Given the description of an element on the screen output the (x, y) to click on. 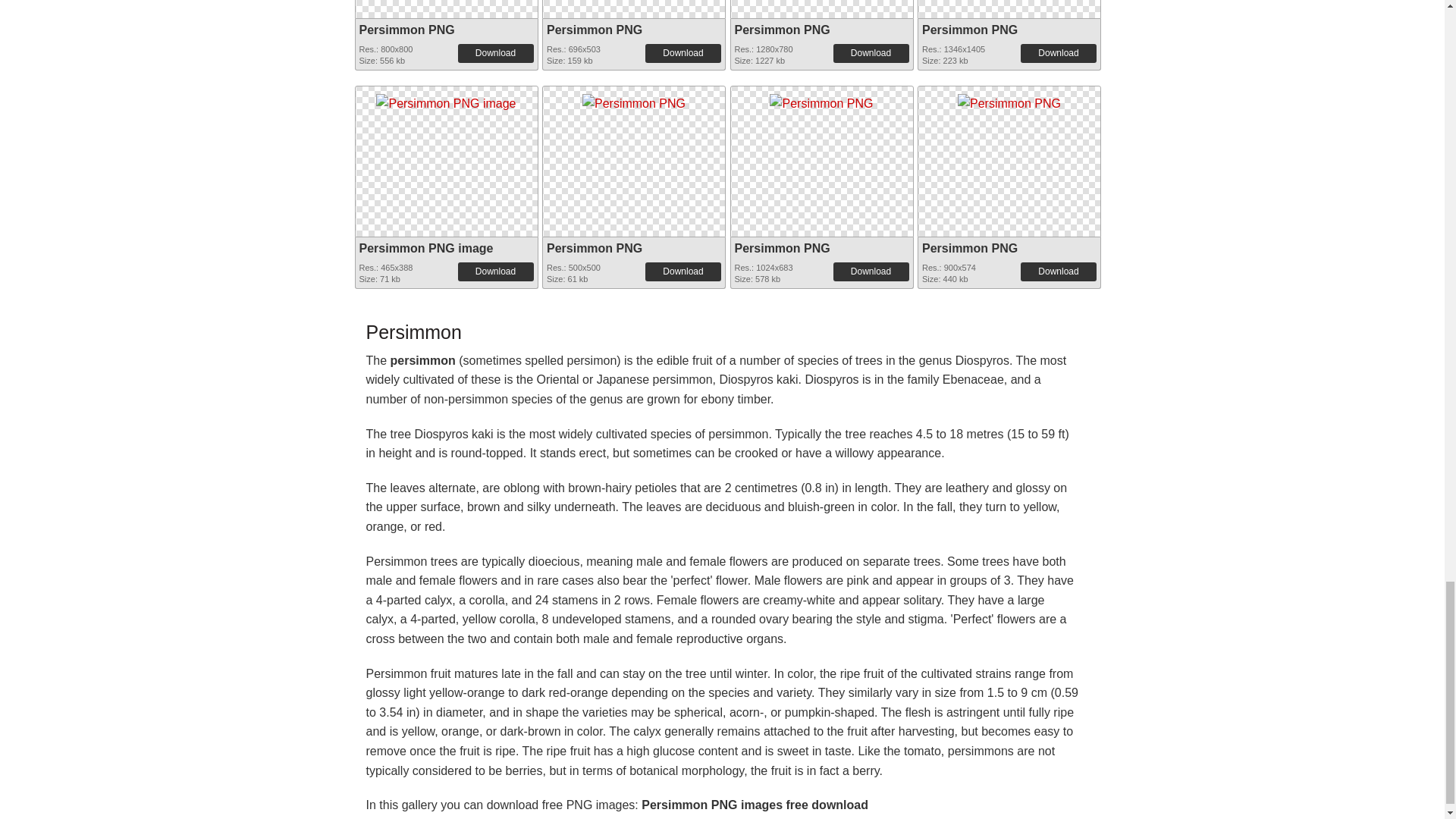
Persimmon PNG (406, 29)
Download (682, 53)
Persimmon PNG (781, 29)
Persimmon PNG (594, 29)
Persimmon PNG (969, 29)
Persimmon PNG image (445, 98)
Persimmon PNG image (445, 99)
Download (870, 53)
Download (1058, 53)
Persimmon PNG (633, 98)
Download (496, 53)
